Given the description of an element on the screen output the (x, y) to click on. 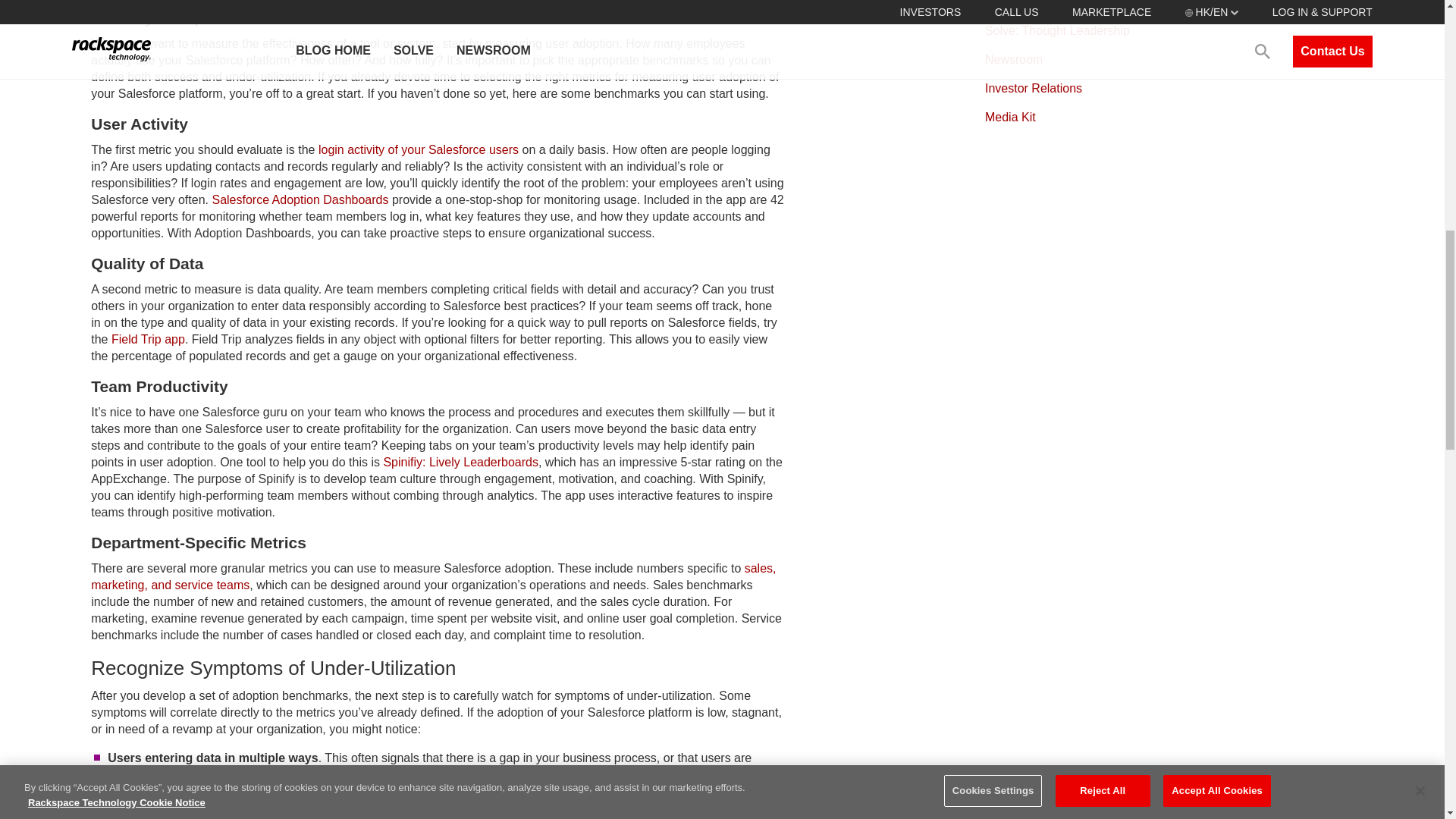
login activity of your Salesforce users (418, 149)
Solve: Thought Leadership (1057, 30)
Newsroom (1013, 59)
Spinifiy: Lively Leaderboards (460, 461)
Media Kit (1010, 116)
sales, marketing, and service teams (433, 576)
Salesforce Adoption Dashboards (299, 199)
Investor Relations (1033, 88)
Blog Home (1015, 4)
Field Trip app (148, 338)
